Given the description of an element on the screen output the (x, y) to click on. 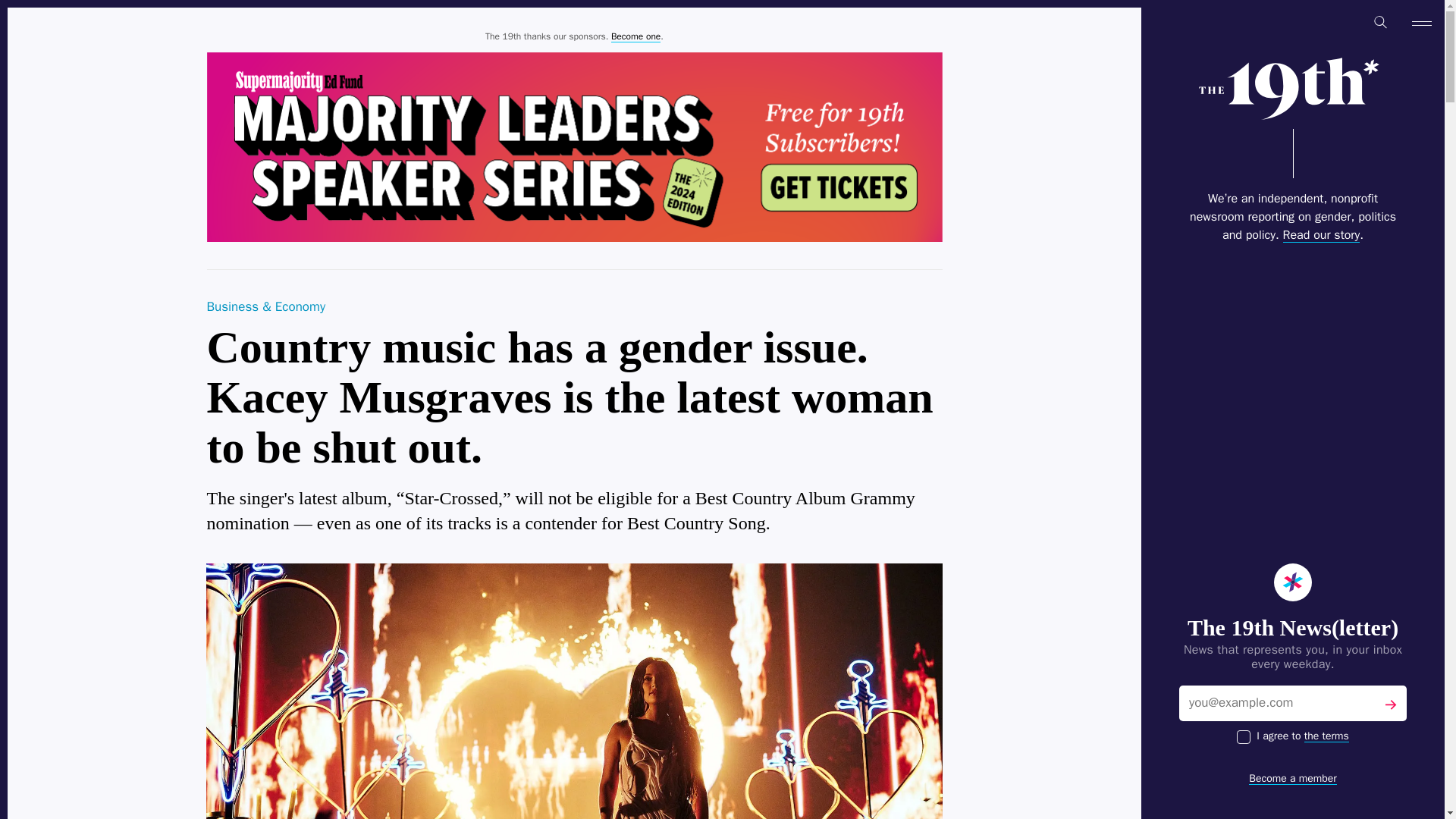
on (1243, 736)
